Given the description of an element on the screen output the (x, y) to click on. 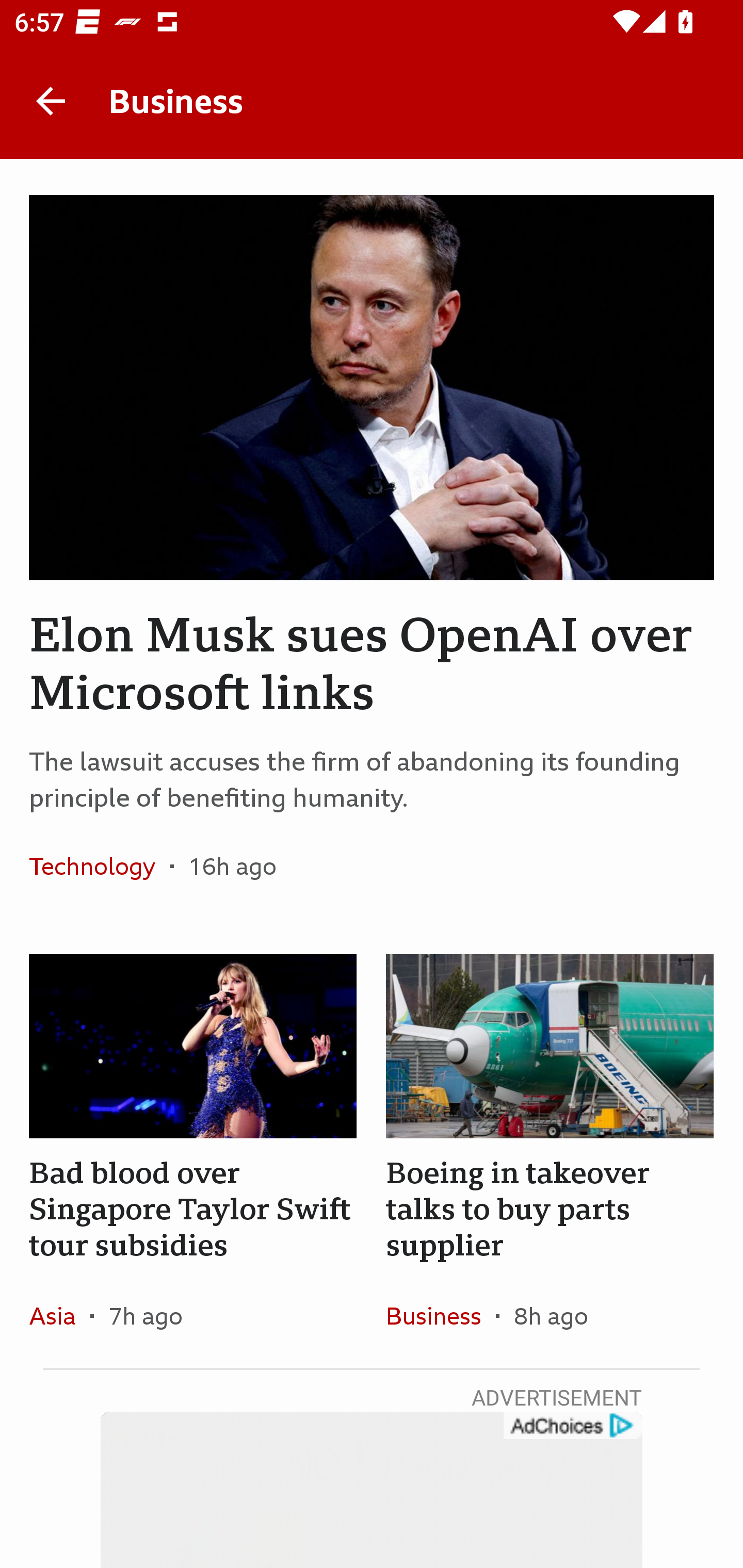
Back (50, 101)
Technology In the section Technology (99, 865)
Asia In the section Asia (59, 1315)
Business In the section Business (440, 1315)
Video Player get?name=admarker-full-tl   (371, 1489)
get?name=admarker-full-tl (571, 1425)
